Given the description of an element on the screen output the (x, y) to click on. 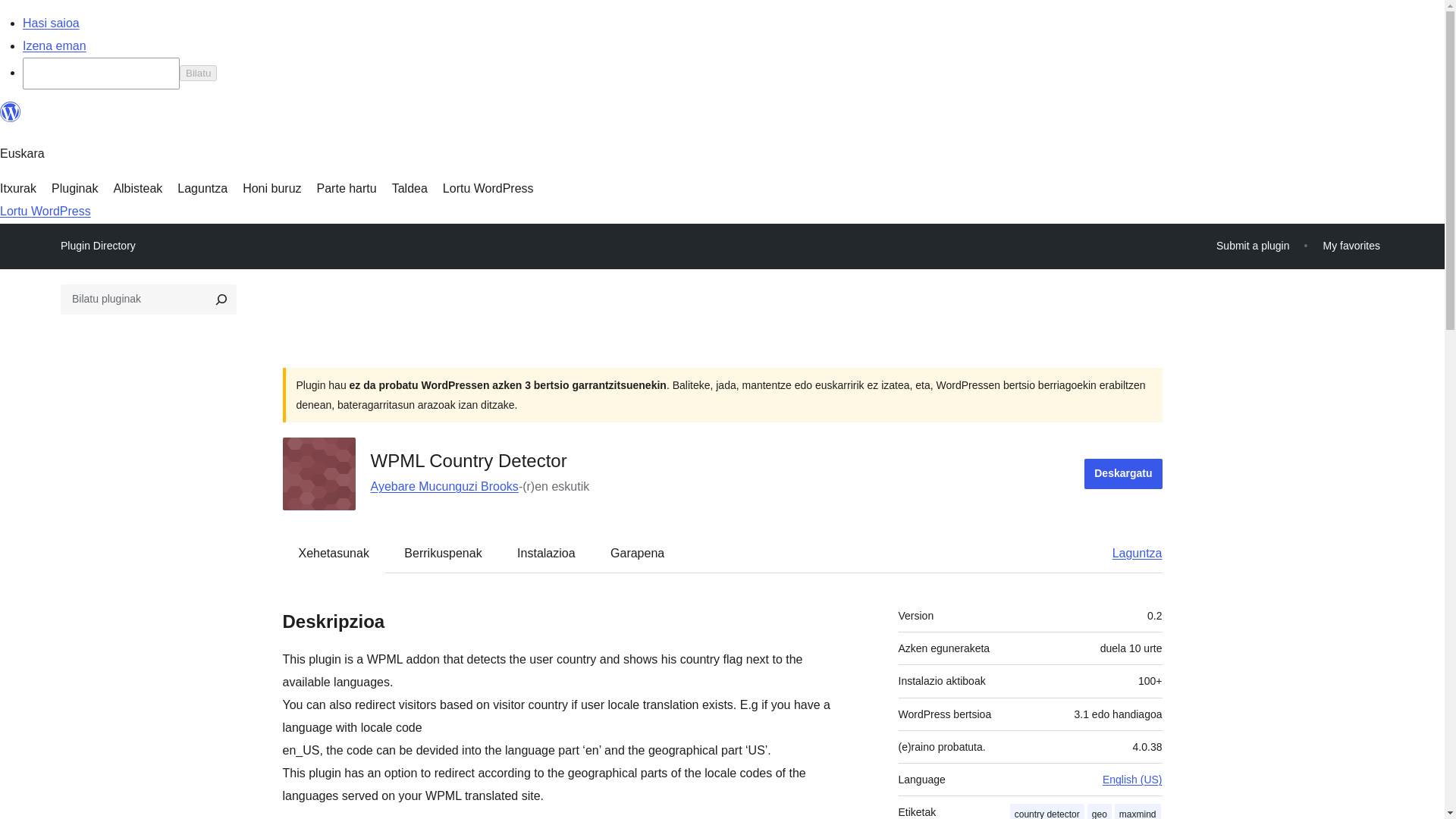
Lortu WordPress (488, 188)
Submit a plugin (1253, 246)
Instalazioa (546, 552)
Ayebare Mucunguzi Brooks (443, 486)
country detector (1047, 811)
Deskargatu (1122, 473)
Berrikuspenak (442, 552)
Laguntza (202, 188)
Xehetasunak (333, 552)
Plugin Directory (97, 245)
Honi buruz (272, 188)
maxmind (1137, 811)
Laguntza (1129, 552)
Albisteak (137, 188)
WordPress.org (10, 111)
